Given the description of an element on the screen output the (x, y) to click on. 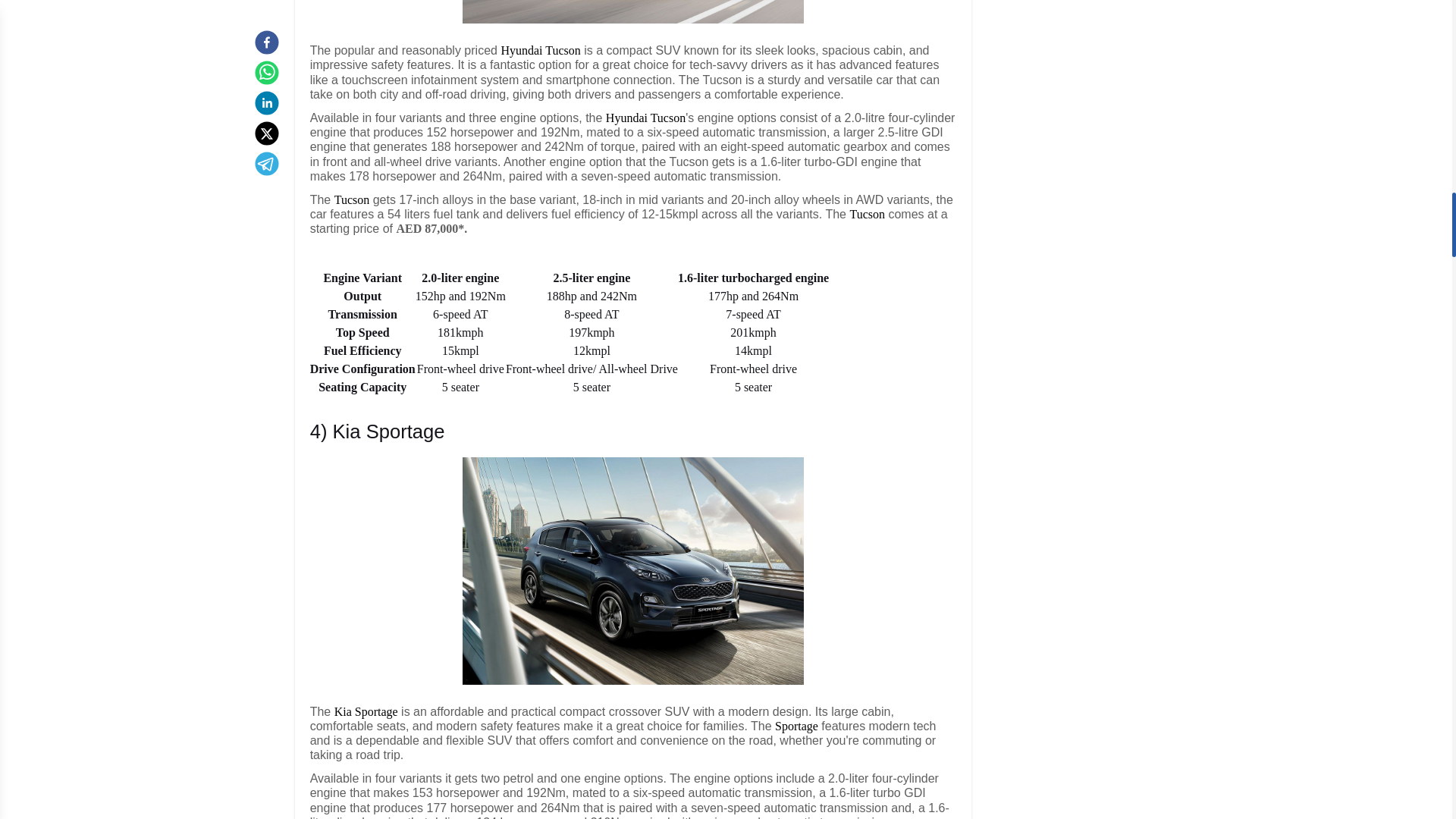
Hyundai Tucson (539, 50)
Hyundai Tucson (645, 117)
Kia Sportage (365, 711)
Tucson (351, 199)
Sportage (796, 725)
Tucson (866, 214)
